Given the description of an element on the screen output the (x, y) to click on. 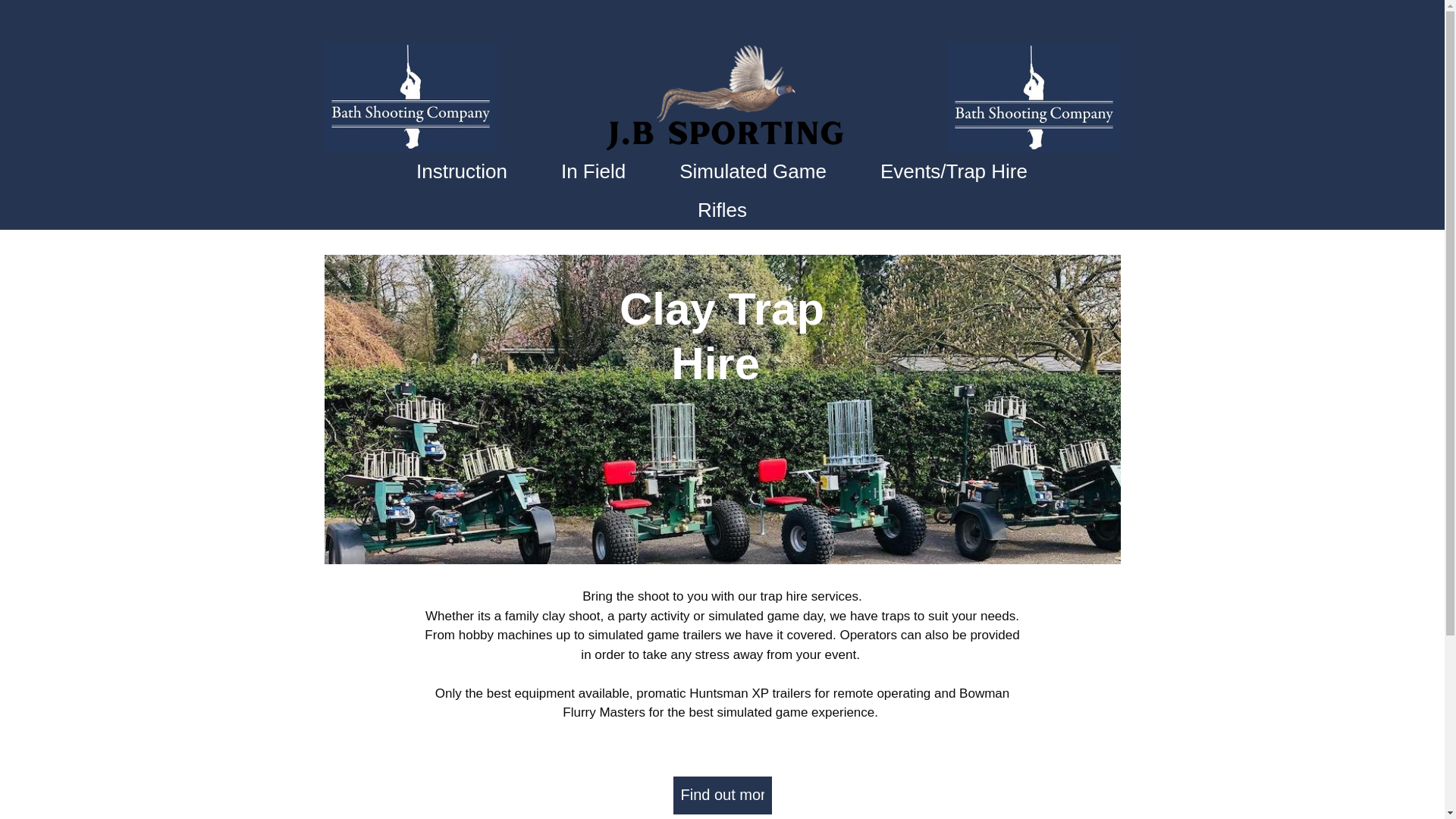
Rifles (722, 210)
Instruction (462, 171)
In Field (593, 171)
Simulated Game (752, 171)
Find out more (721, 795)
